Given the description of an element on the screen output the (x, y) to click on. 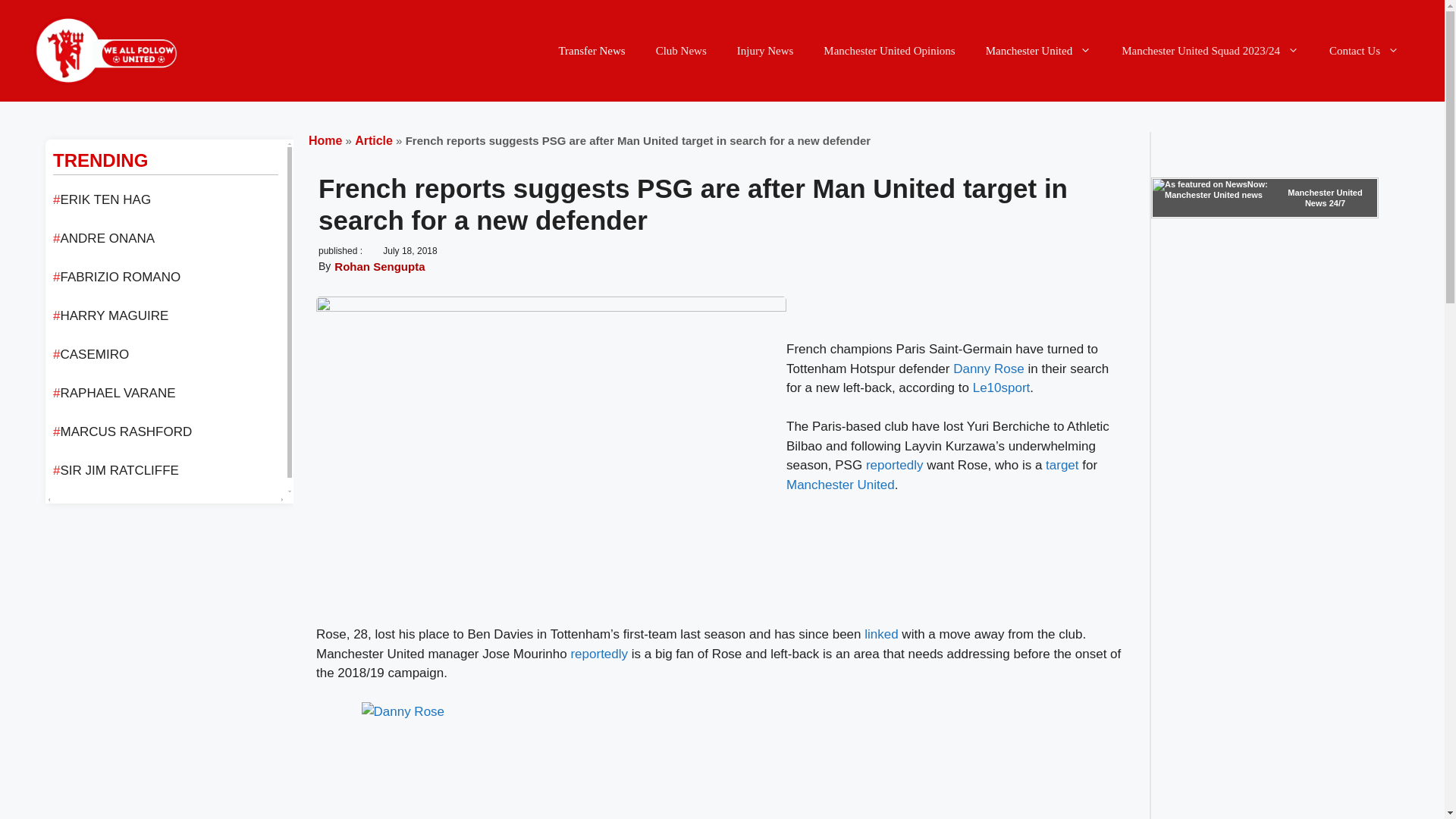
Club News (681, 50)
Transfer News (591, 50)
Manchester United (1038, 50)
Injury News (765, 50)
Click here for more Manchester United news from NewsNow (1264, 197)
Manchester United Opinions (888, 50)
